Given the description of an element on the screen output the (x, y) to click on. 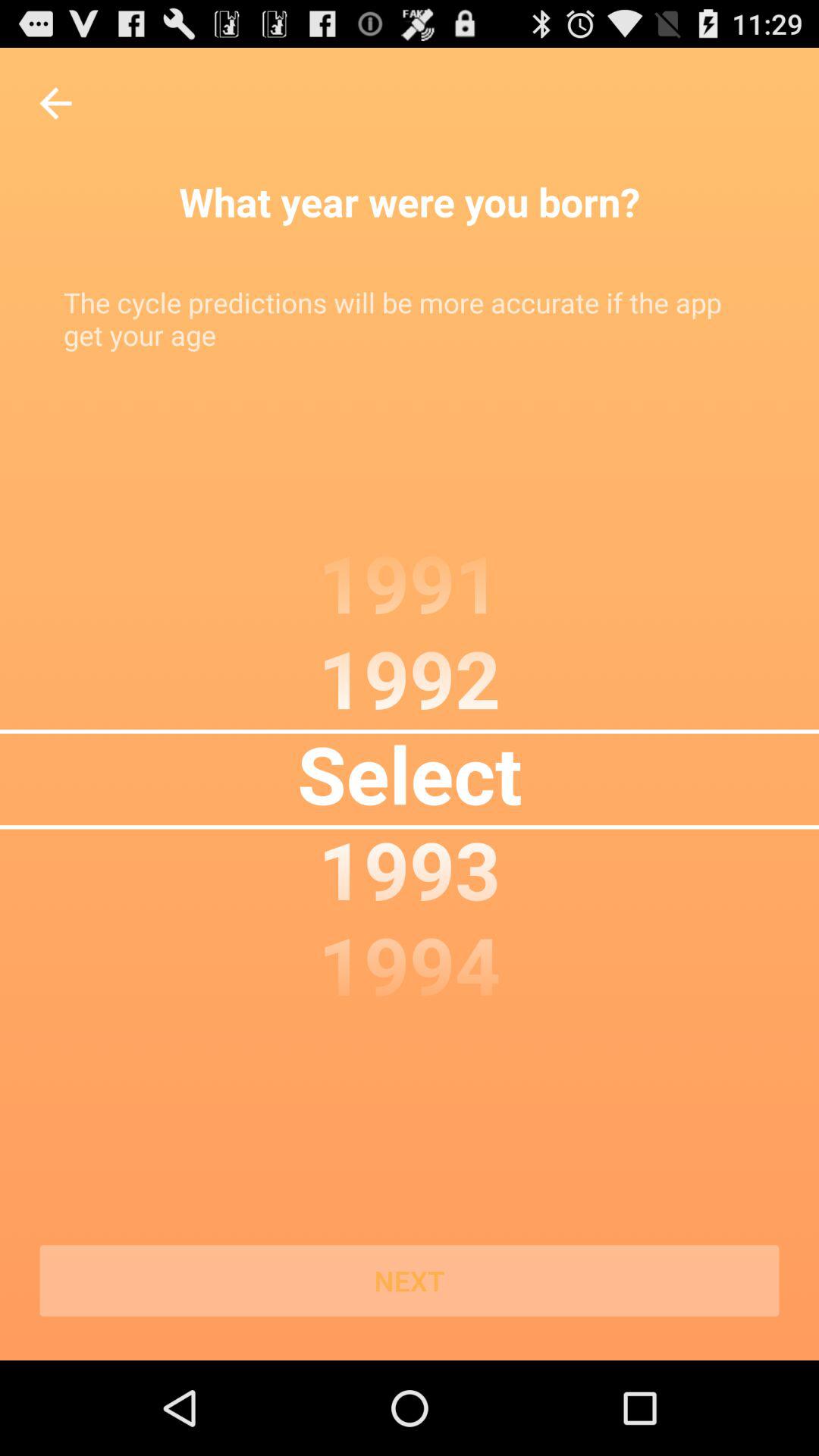
press the next (409, 1280)
